Given the description of an element on the screen output the (x, y) to click on. 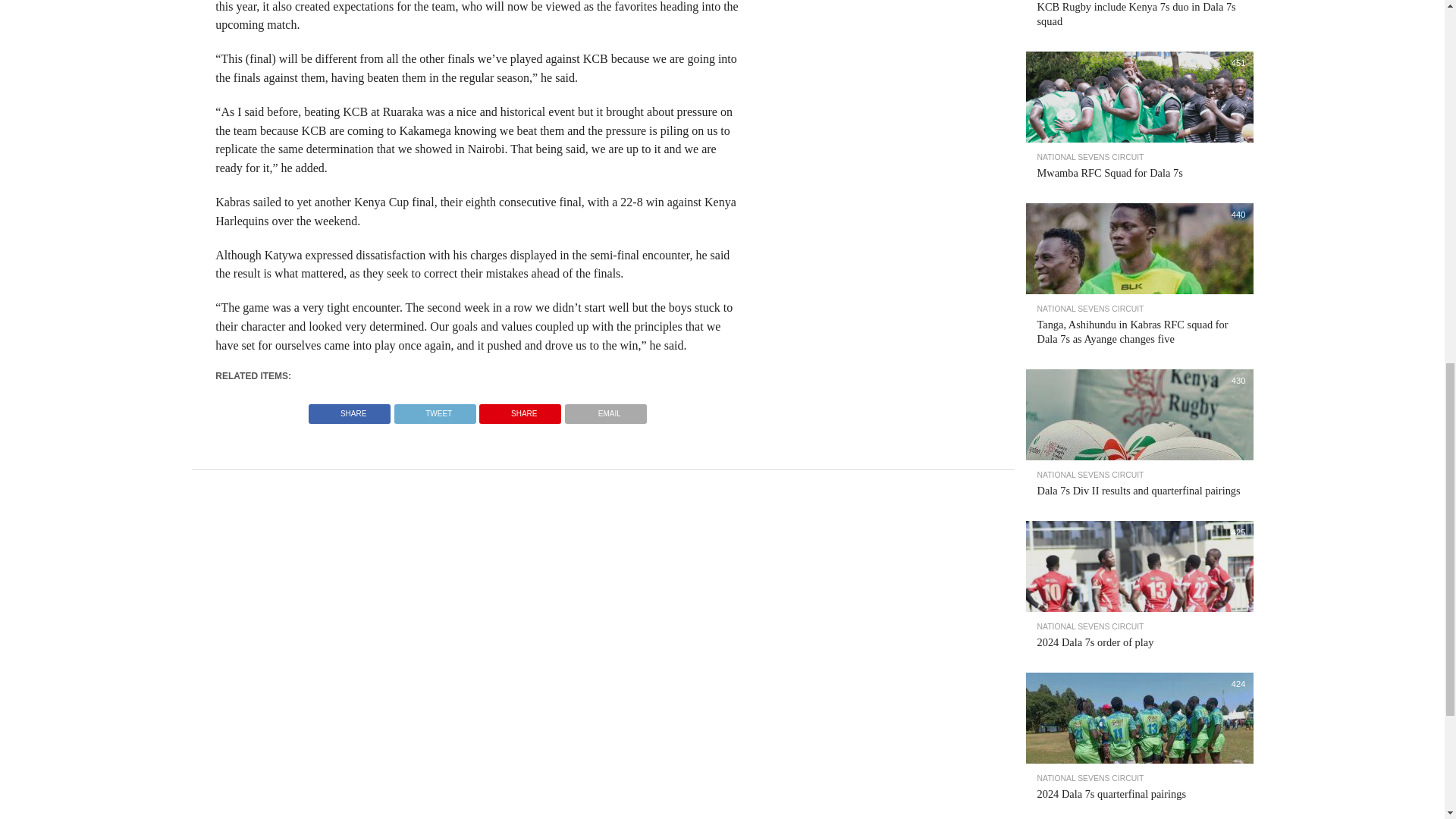
Share on Facebook (349, 409)
Tweet This Post (434, 409)
Pin This Post (520, 409)
